Given the description of an element on the screen output the (x, y) to click on. 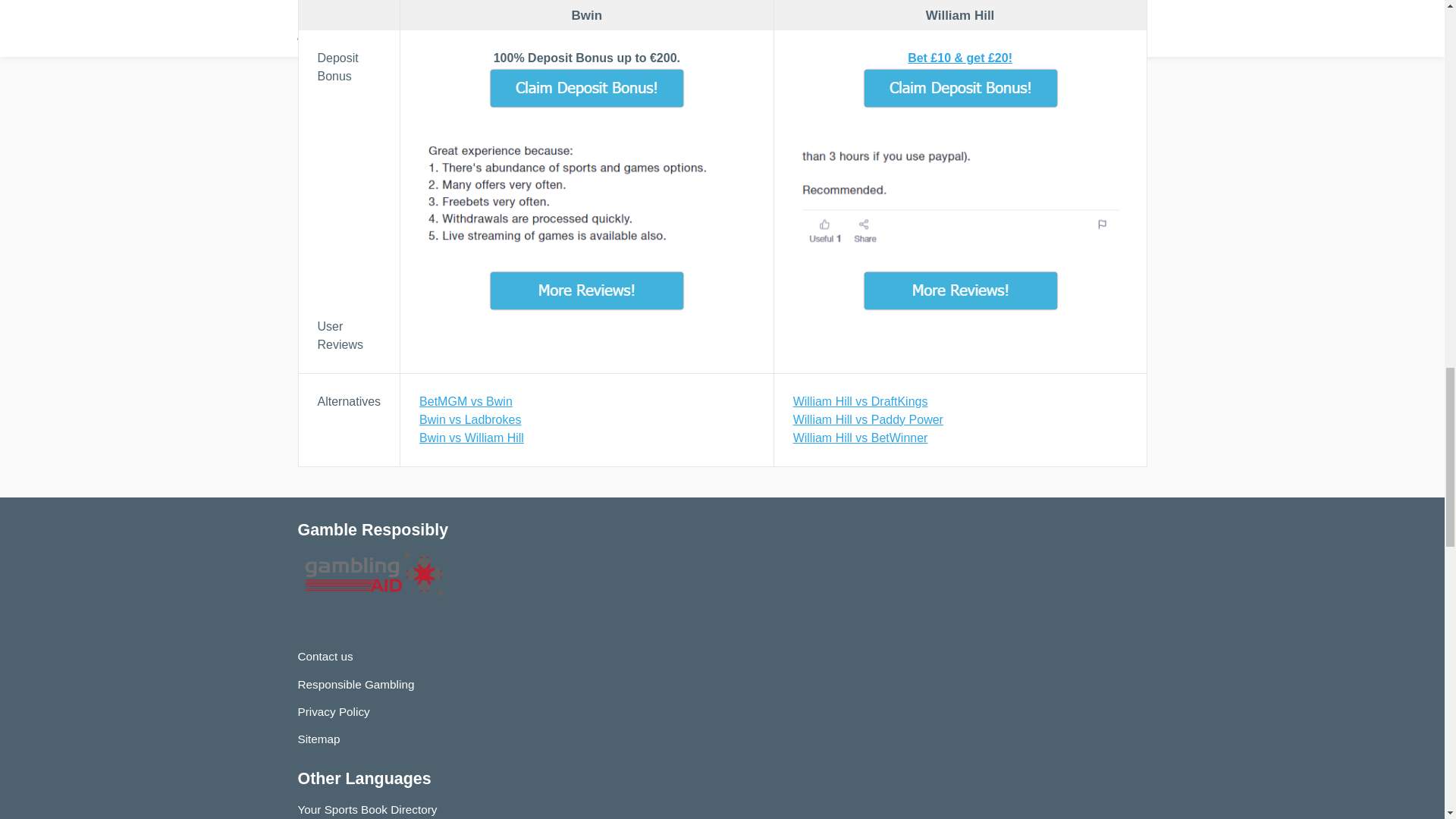
Bwin vs William Hill (586, 438)
Bwin vs Ladbrokes (586, 420)
BetMGM vs Bwin (586, 402)
Privacy Policy (333, 711)
William Hill vs BetWinner (959, 438)
William Hill vs DraftKings (959, 402)
Your Sports Book Directory (366, 809)
Sitemap (318, 738)
Responsible Gambling (355, 684)
More Reviews (586, 291)
